Given the description of an element on the screen output the (x, y) to click on. 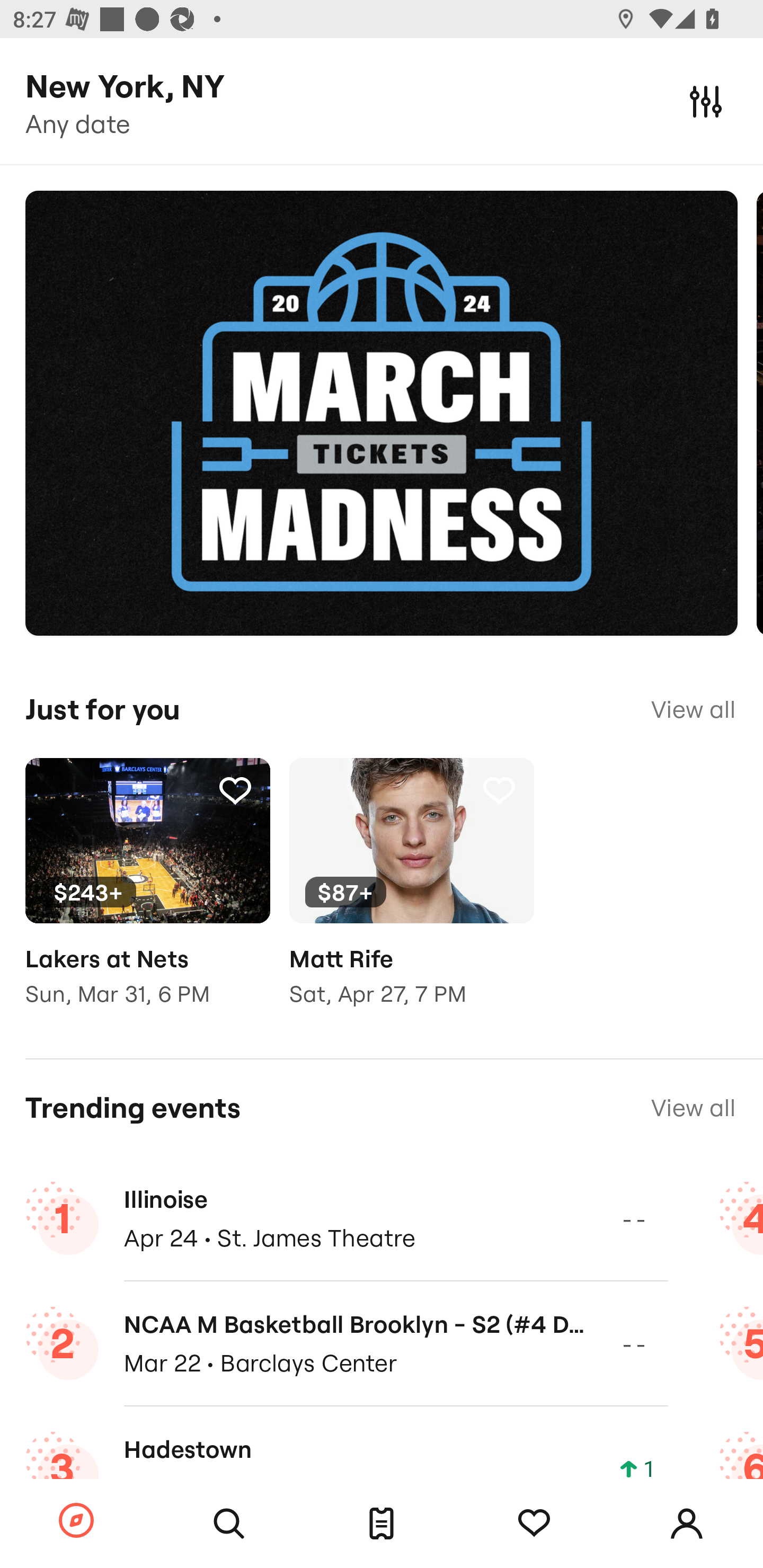
Filters (705, 100)
View all (693, 709)
Tracking $243+ Lakers at Nets Sun, Mar 31, 6 PM (147, 895)
Tracking $87+ Matt Rife Sat, Apr 27, 7 PM (411, 895)
Tracking (234, 790)
Tracking (498, 790)
View all (693, 1108)
Browse (76, 1521)
Search (228, 1523)
Tickets (381, 1523)
Tracking (533, 1523)
Account (686, 1523)
